Given the description of an element on the screen output the (x, y) to click on. 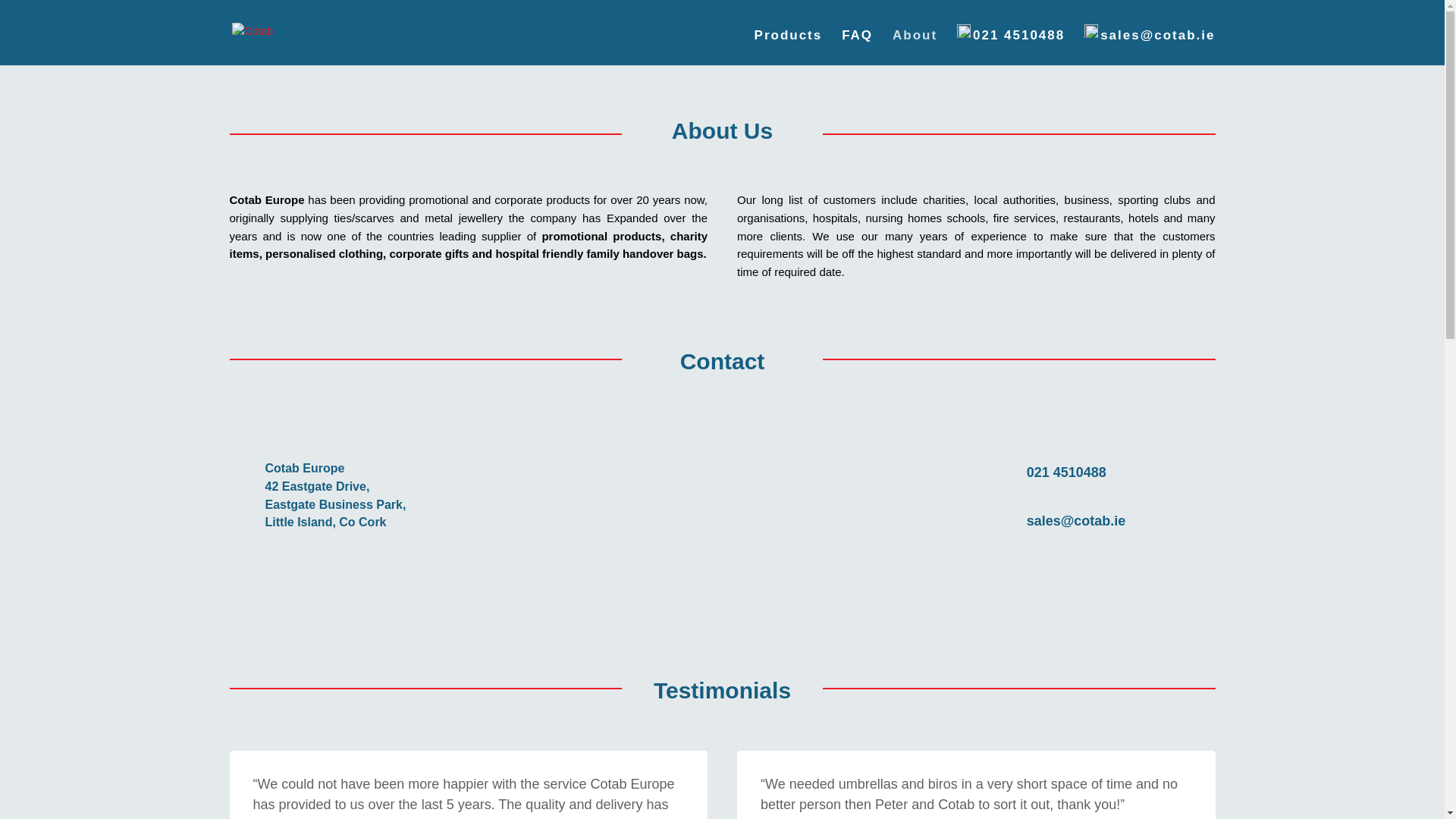
021 4510488 (1010, 44)
Page 1 (975, 235)
About (914, 47)
Products (788, 47)
FAQ (856, 47)
